Given the description of an element on the screen output the (x, y) to click on. 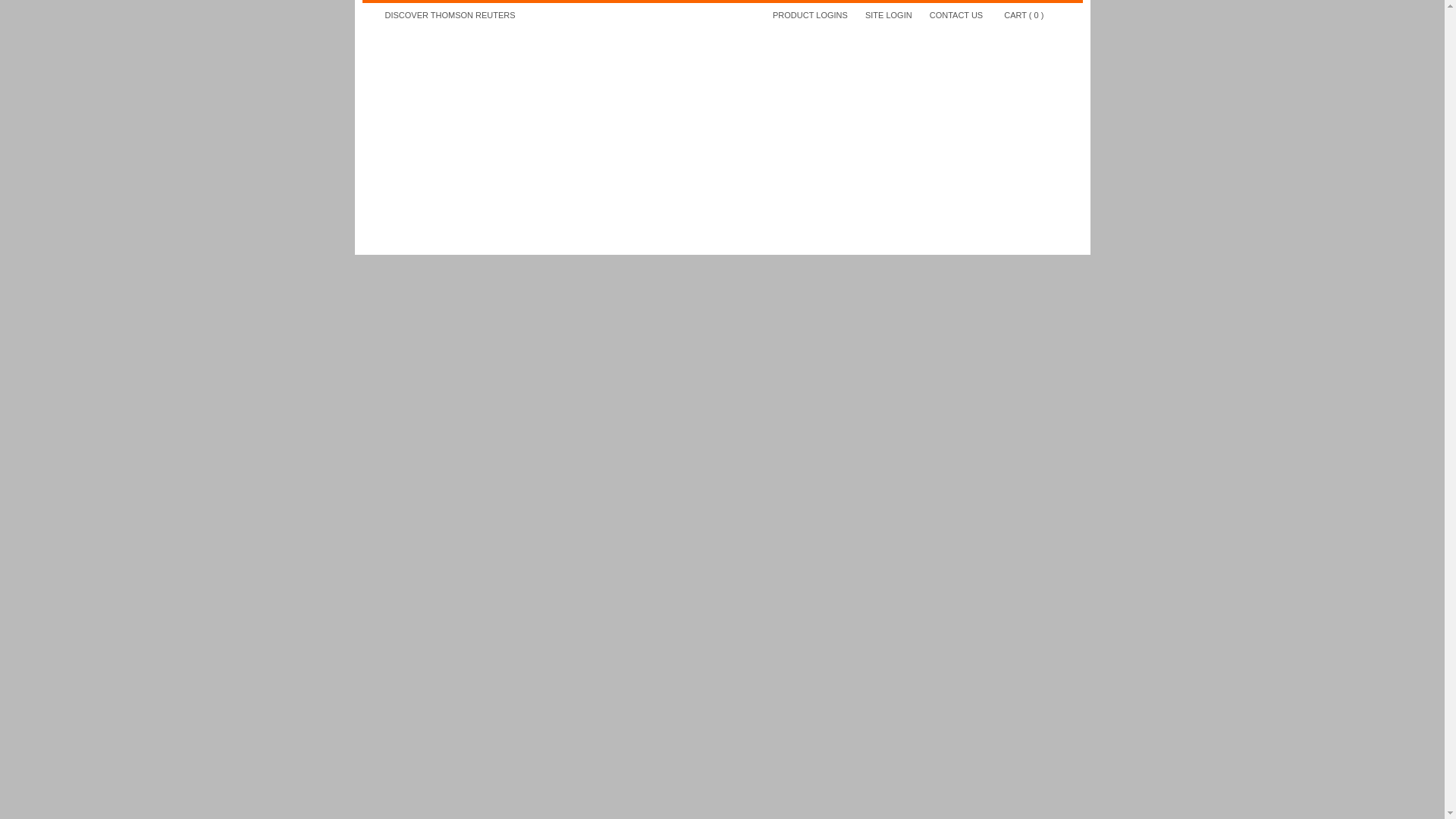
DISCOVER THOMSON REUTERS (450, 15)
